Given the description of an element on the screen output the (x, y) to click on. 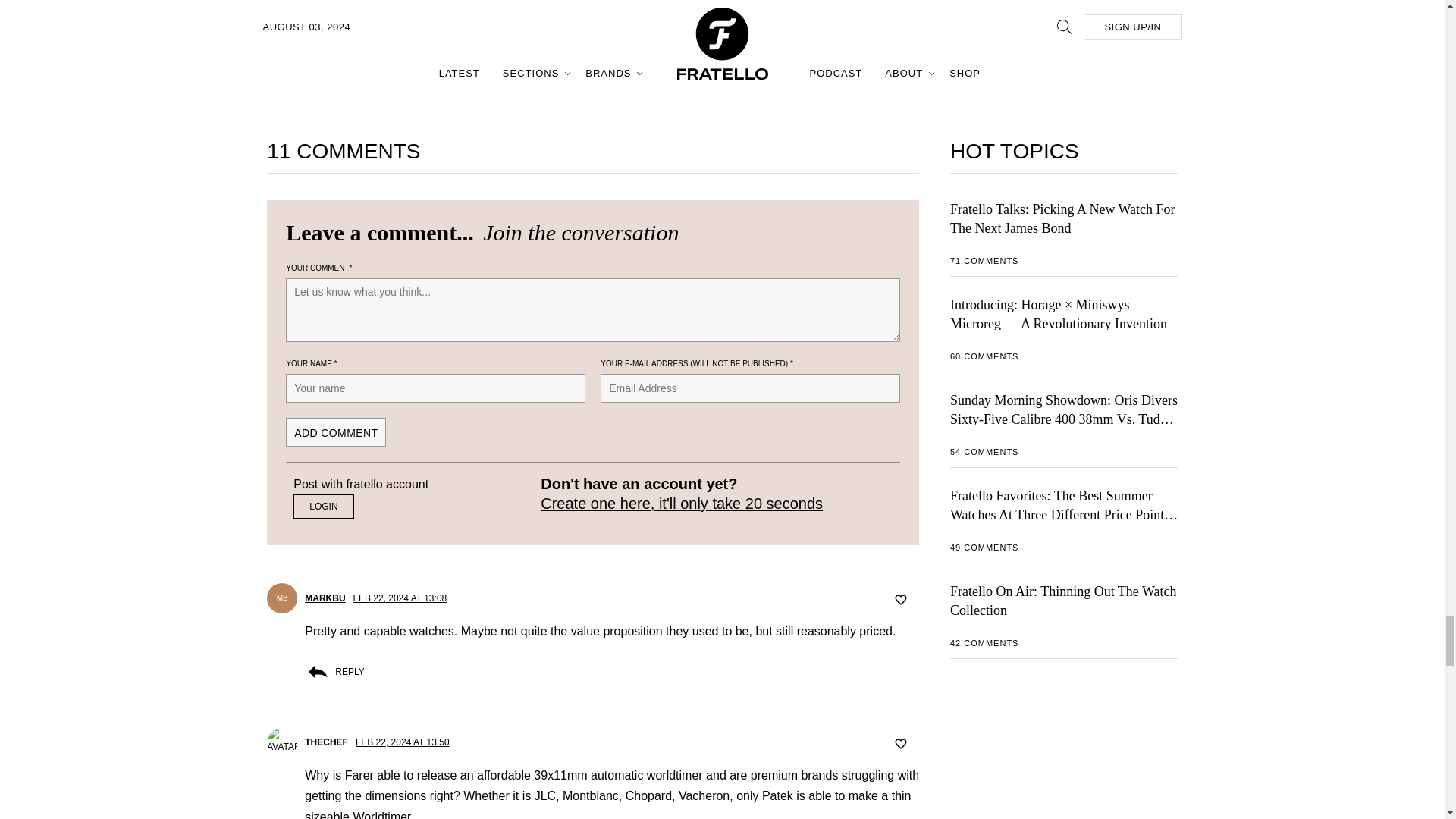
Add comment (335, 431)
